Given the description of an element on the screen output the (x, y) to click on. 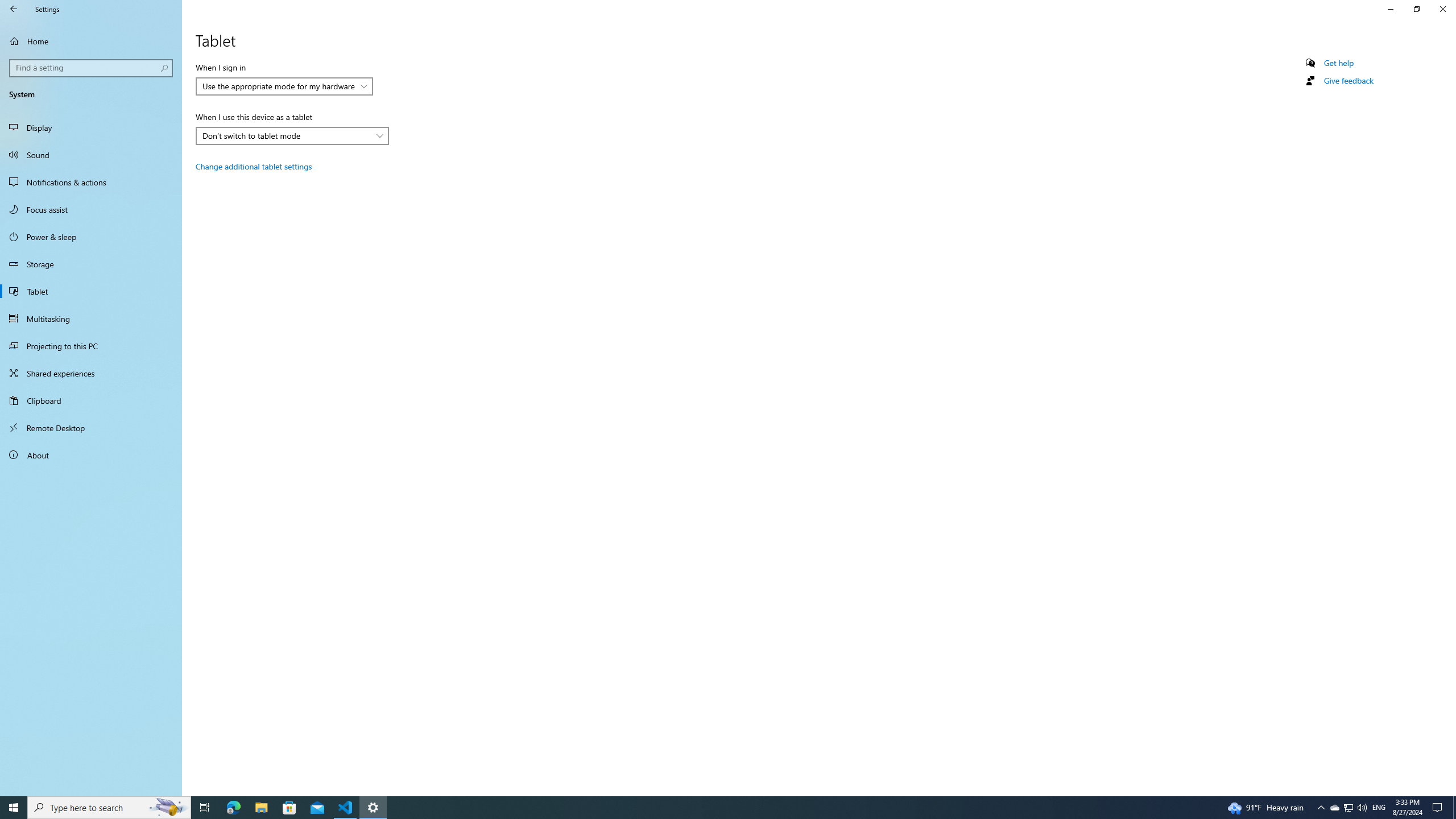
Clipboard (91, 400)
